Given the description of an element on the screen output the (x, y) to click on. 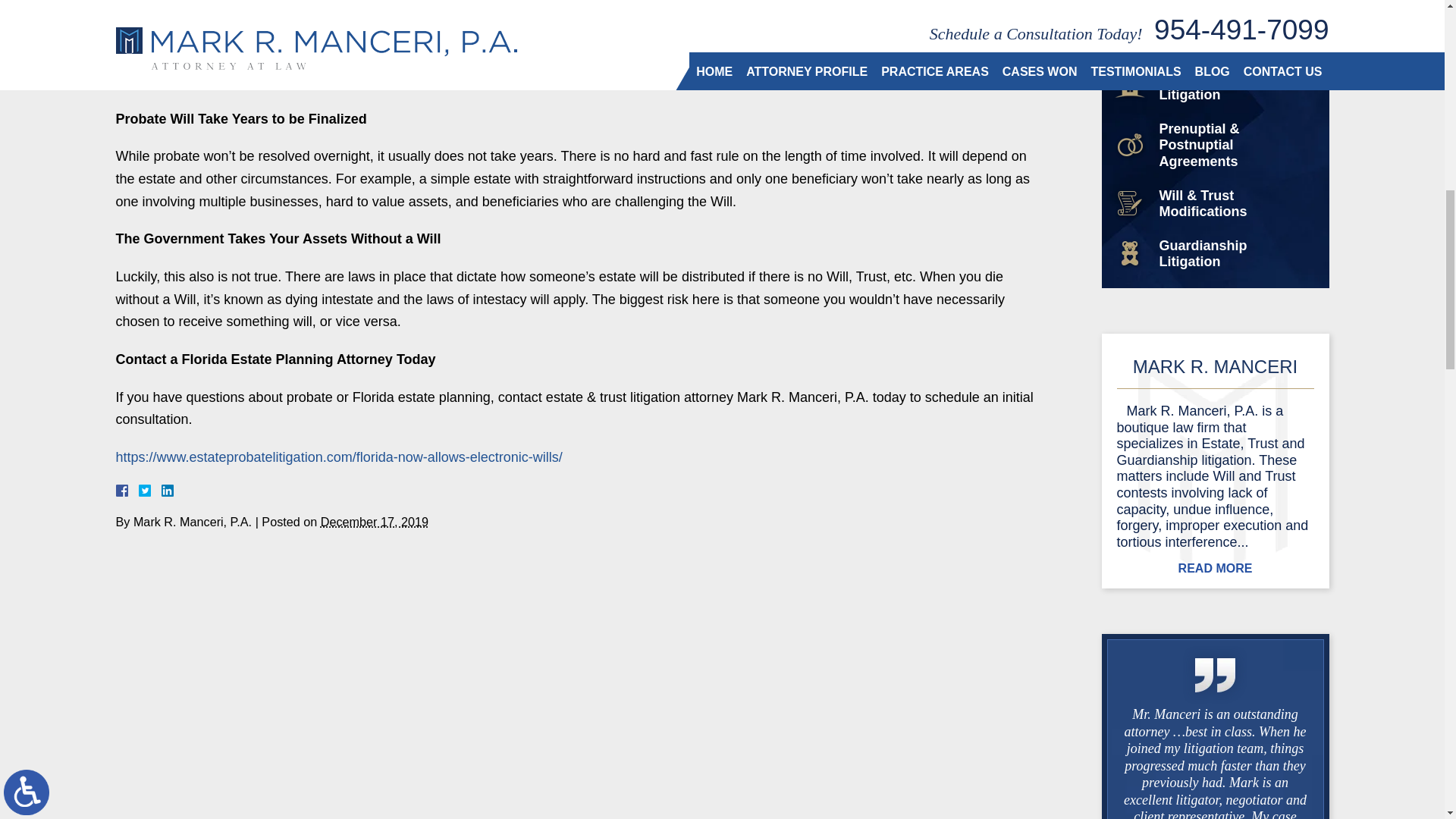
LinkedIn (160, 490)
Twitter (149, 490)
2019-12-17T03:00:57-0800 (374, 521)
Facebook (139, 490)
